Given the description of an element on the screen output the (x, y) to click on. 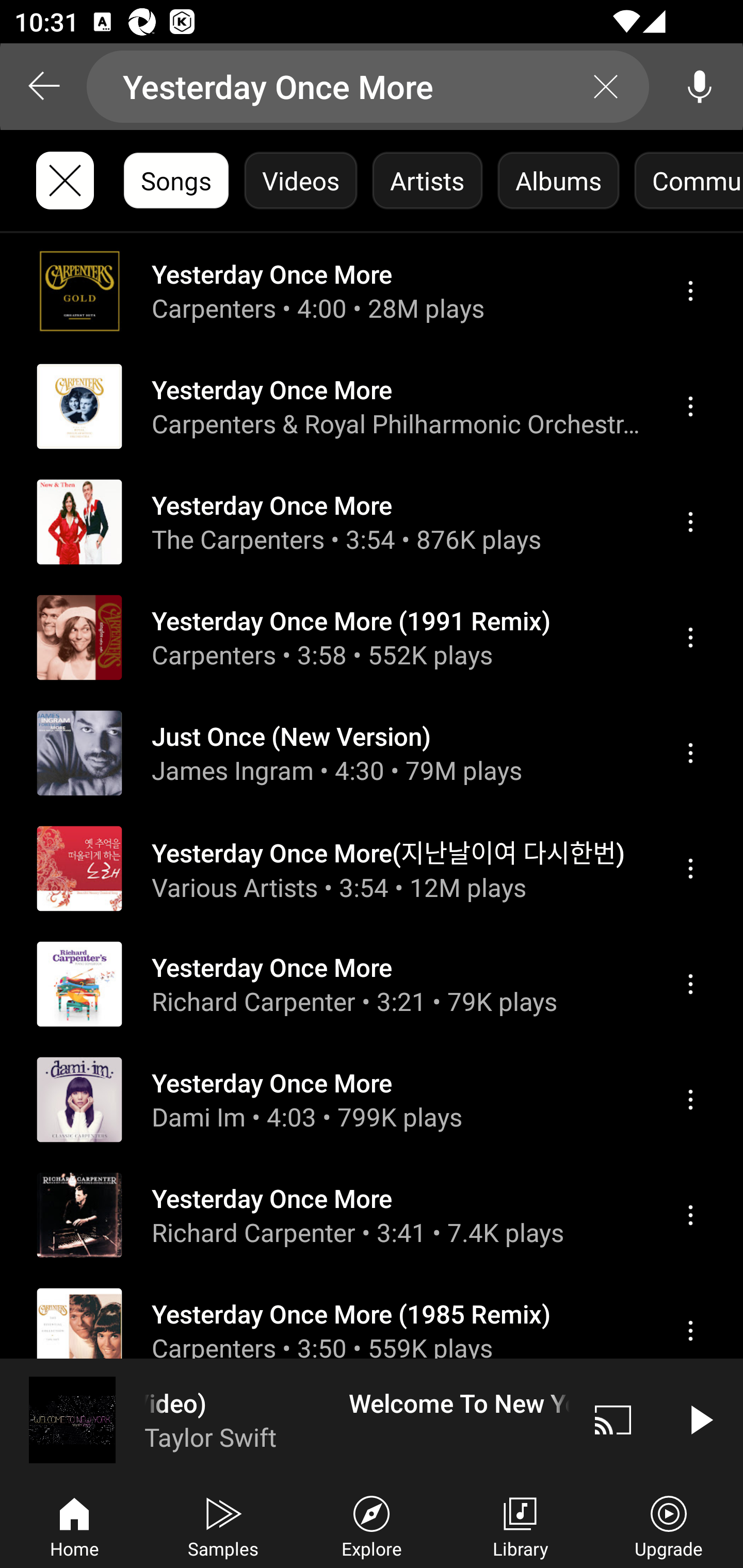
Search back (43, 86)
Yesterday Once More (367, 86)
Clear search (605, 86)
Voice search (699, 86)
Clear filters (64, 181)
Menu (690, 290)
Menu (690, 406)
Menu (690, 522)
Menu (690, 638)
Menu (690, 752)
Menu (690, 868)
Menu (690, 984)
Menu (690, 1099)
Menu (690, 1215)
Menu (690, 1331)
Cast. Disconnected (612, 1419)
Play video (699, 1419)
Home (74, 1524)
Samples (222, 1524)
Explore (371, 1524)
Library (519, 1524)
Upgrade (668, 1524)
